Given the description of an element on the screen output the (x, y) to click on. 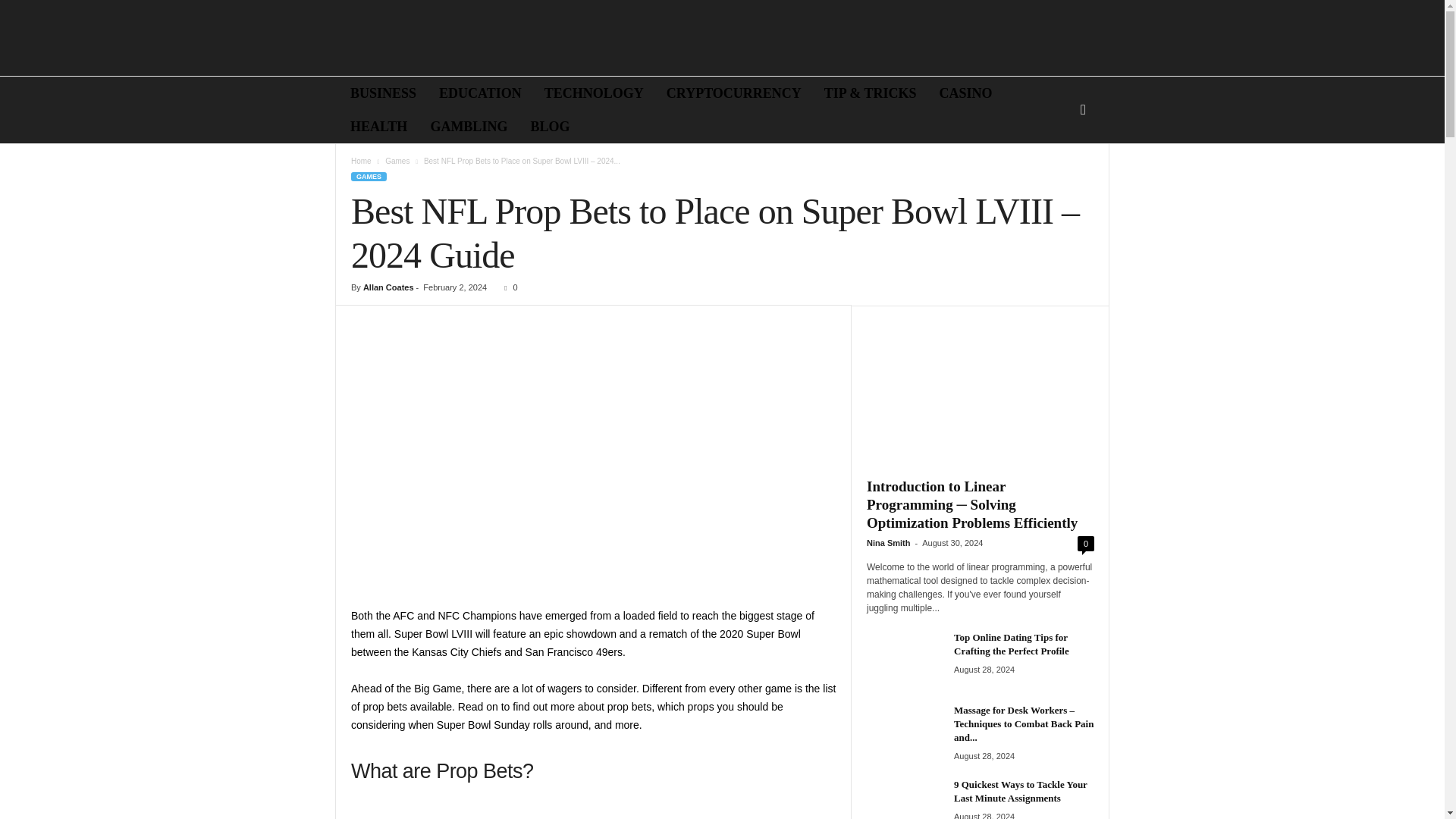
TECHNOLOGY (593, 92)
GAMBLING (468, 126)
GAMES (368, 175)
Games (397, 161)
EDUCATION (480, 92)
Allan Coates (387, 286)
0 (506, 286)
BUSINESS (383, 92)
BLOG (549, 126)
View all posts in Games (397, 161)
